Given the description of an element on the screen output the (x, y) to click on. 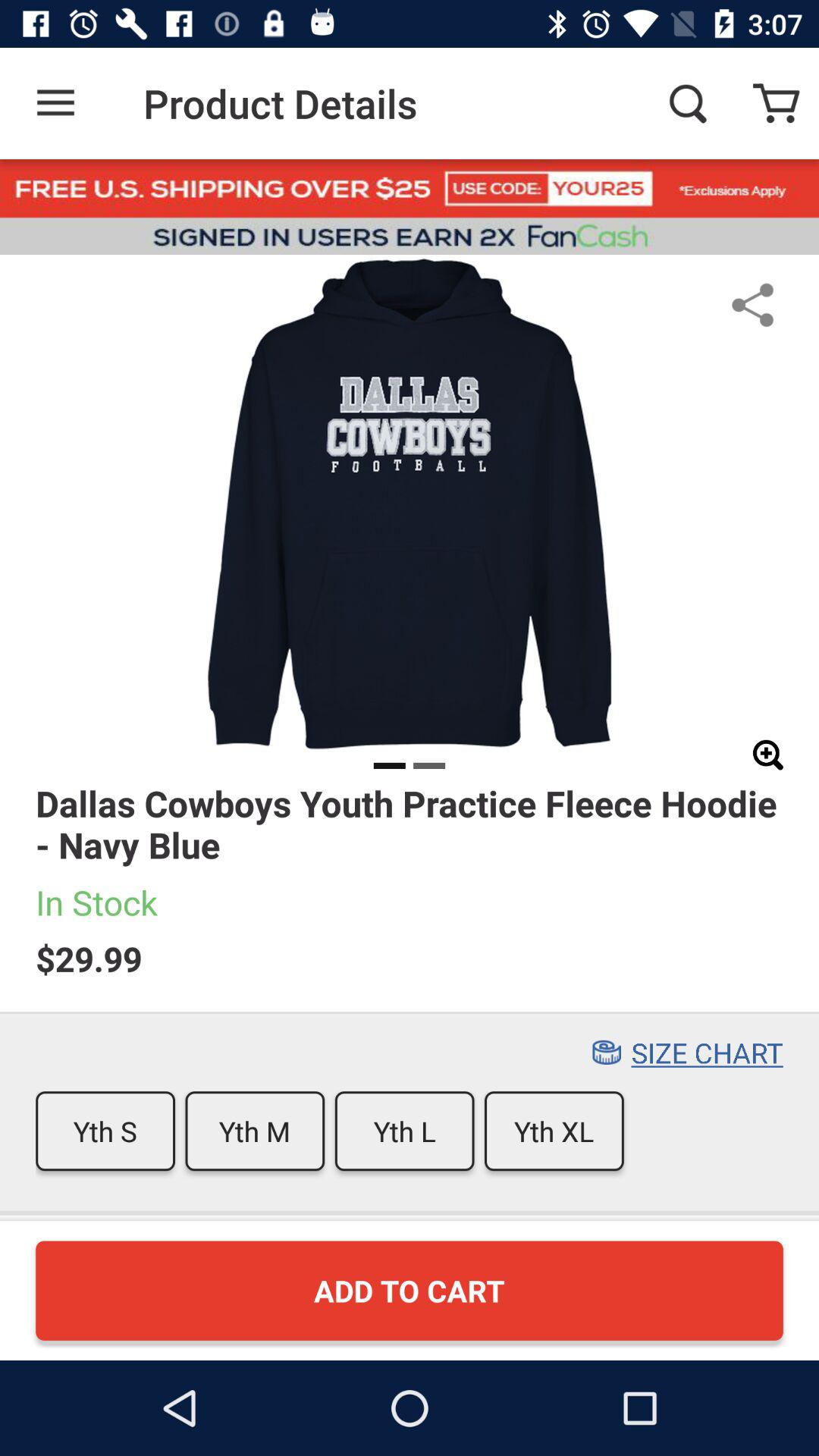
press item next to yth l (553, 1131)
